Given the description of an element on the screen output the (x, y) to click on. 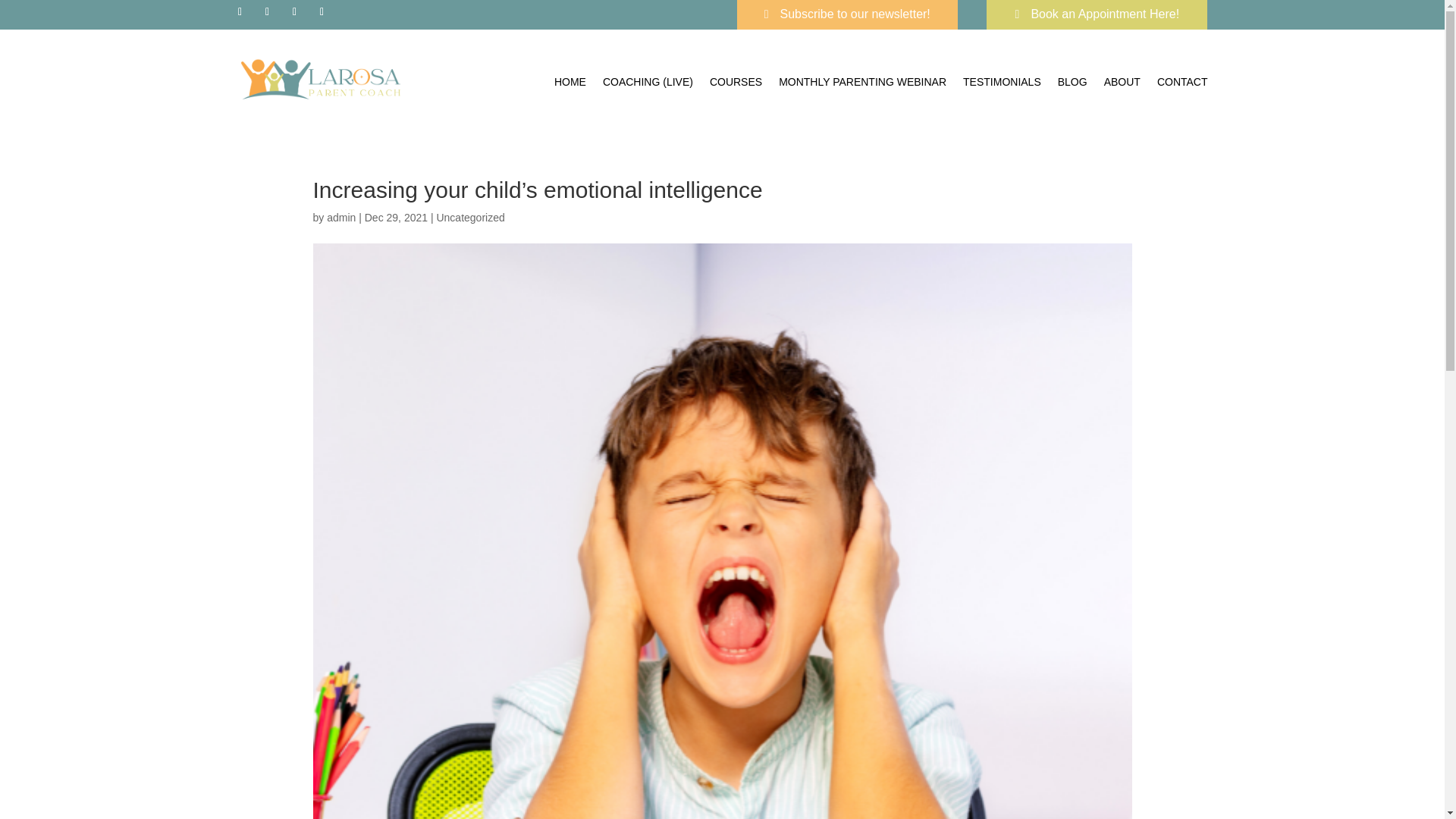
Book an Appointment Here! (1097, 14)
Subscribe to our newsletter! (847, 14)
Follow on Vimeo (321, 11)
Follow on Instagram (267, 11)
Follow on X (293, 11)
Posts by admin (340, 217)
TESTIMONIALS (1001, 81)
MONTHLY PARENTING WEBINAR (862, 81)
Follow on Facebook (239, 11)
